Given the description of an element on the screen output the (x, y) to click on. 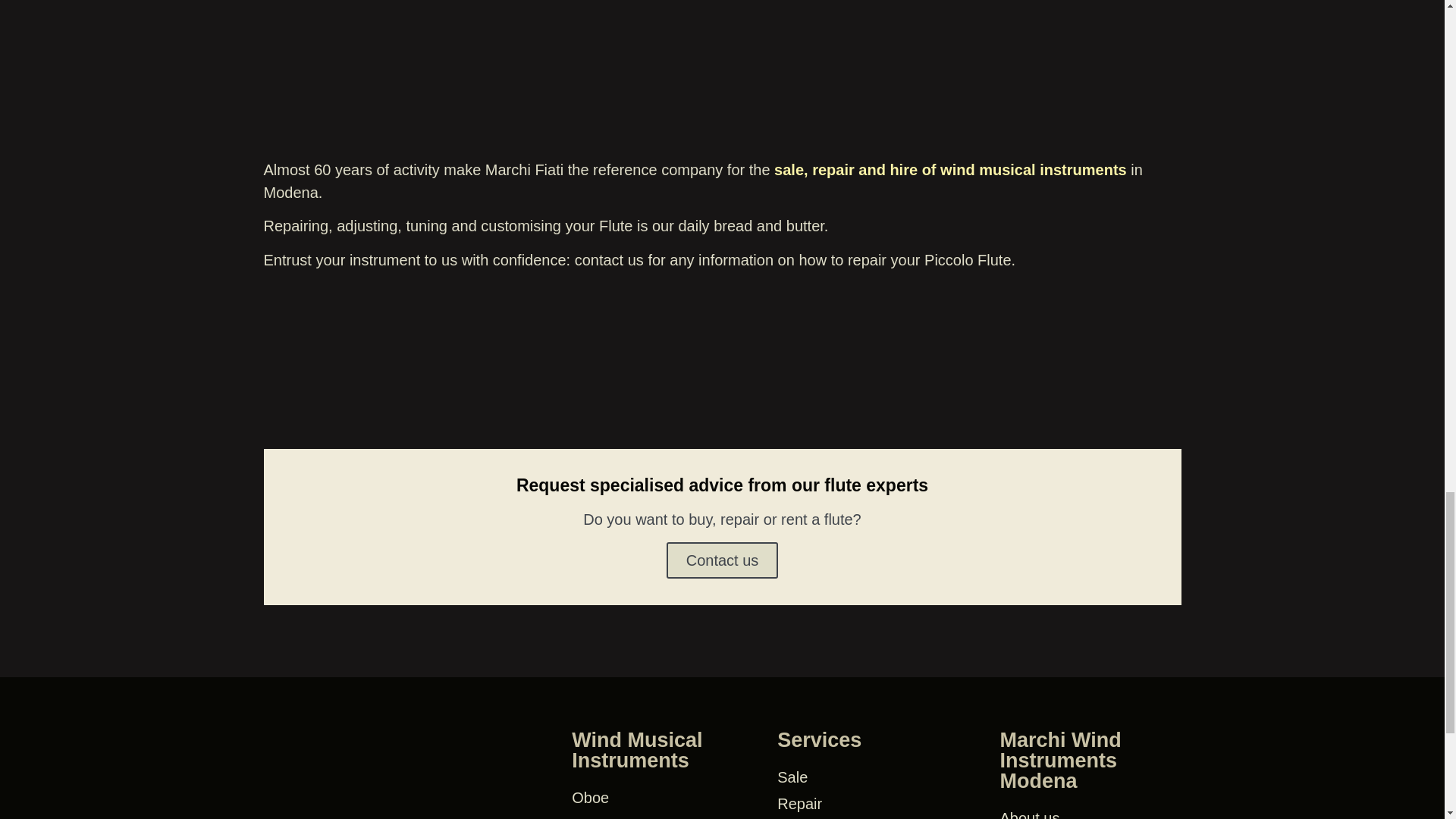
sale, repair and hire of wind musical instruments (950, 169)
Contact us (722, 560)
Oboe (666, 797)
